Given the description of an element on the screen output the (x, y) to click on. 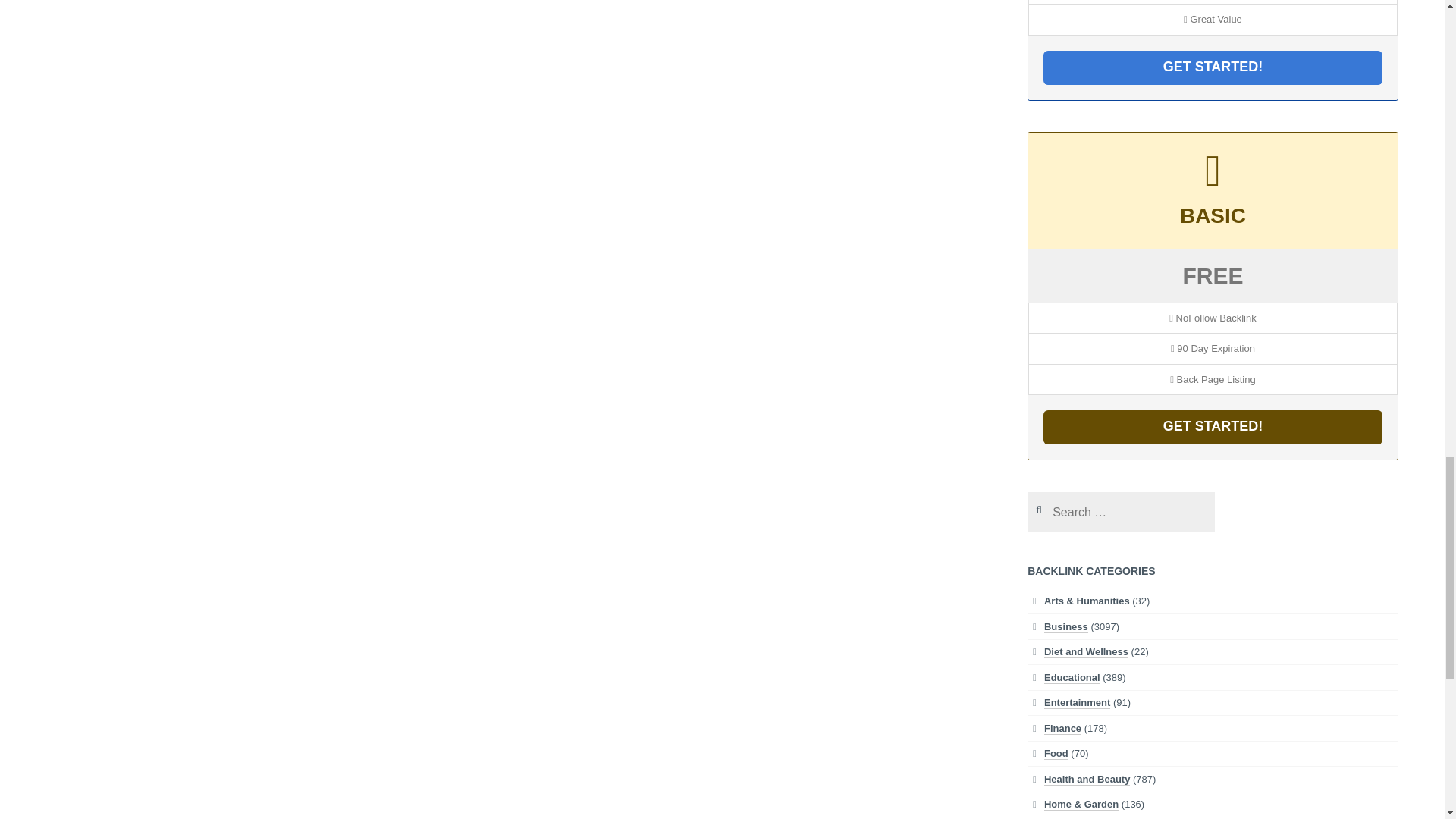
Finance (1062, 728)
Health and Beauty (1086, 779)
Diet and Wellness (1085, 652)
Food (1055, 753)
GET STARTED! (1212, 427)
Entertainment (1076, 702)
Business (1065, 626)
Educational (1071, 677)
GET STARTED! (1212, 67)
